Given the description of an element on the screen output the (x, y) to click on. 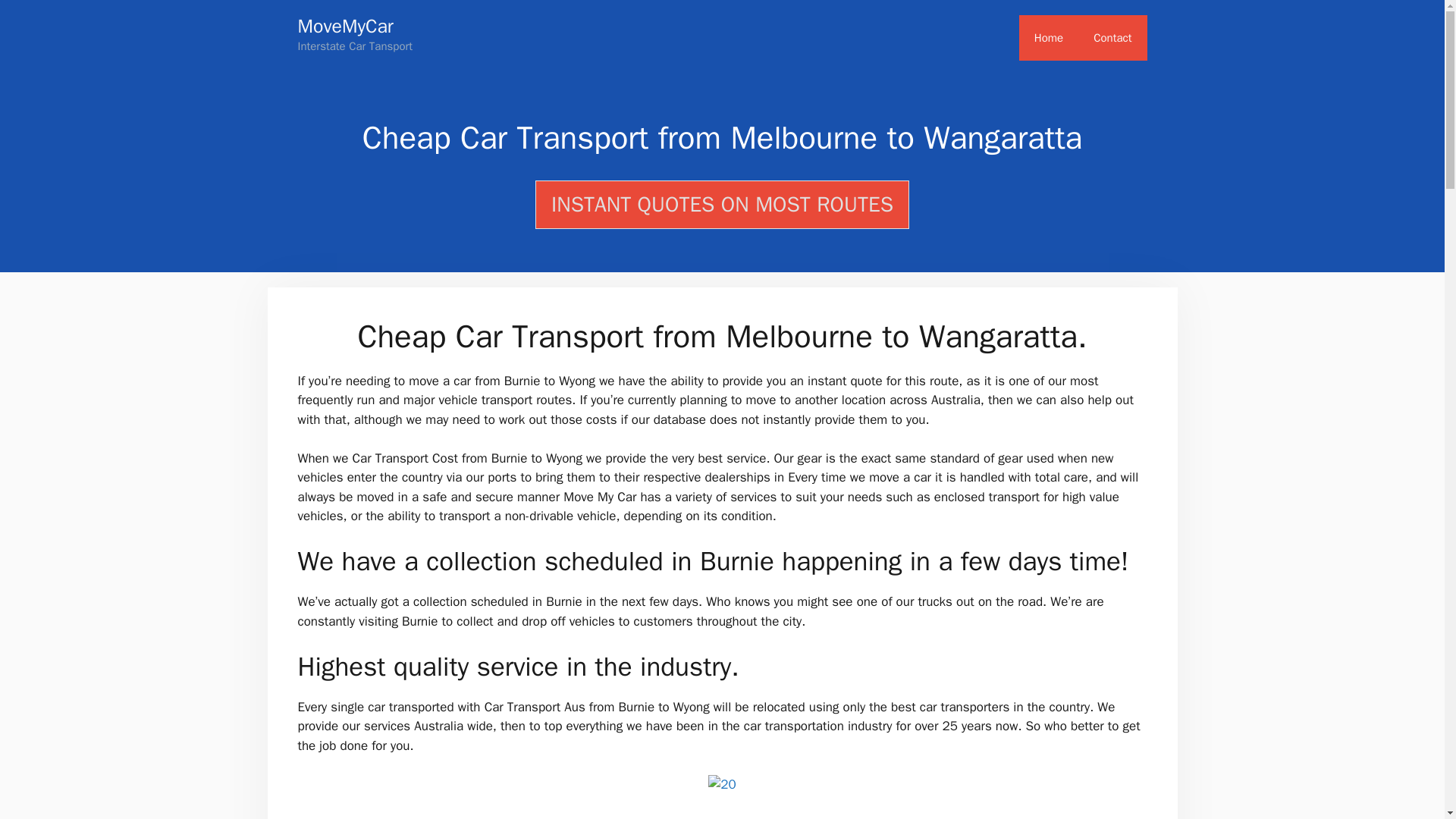
MoveMyCar (345, 25)
Home (1048, 37)
INSTANT QUOTES ON MOST ROUTES (721, 204)
Contact (1112, 37)
